Given the description of an element on the screen output the (x, y) to click on. 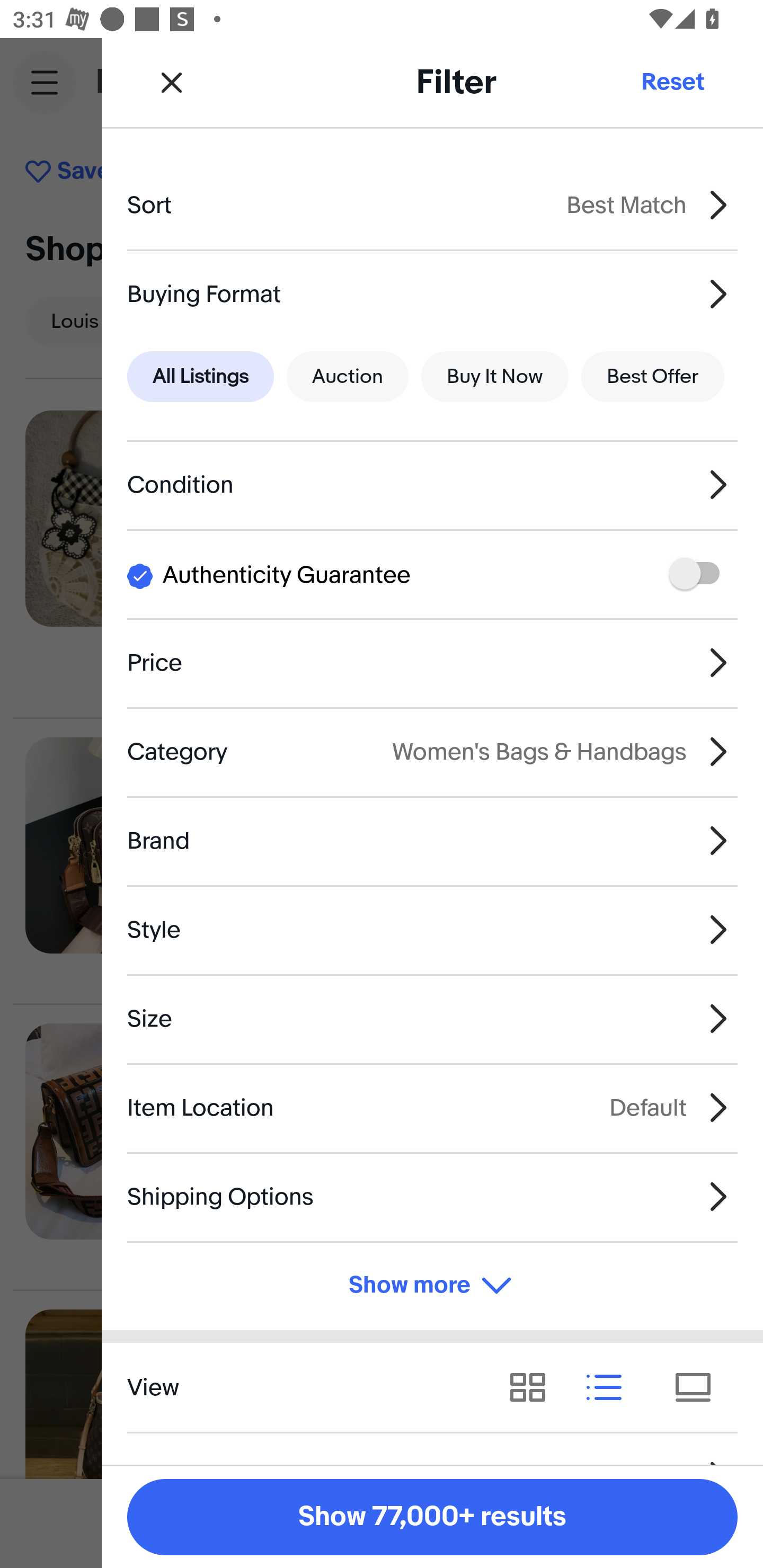
Close Filter (171, 81)
Reset (672, 81)
Buying Format (432, 293)
All Listings (200, 376)
Auction (347, 376)
Buy It Now (494, 376)
Best Offer (652, 376)
Condition (432, 484)
I  Authenticity Guarantee (432, 573)
Price (432, 662)
Category Women's Bags & Handbags (432, 751)
Brand (432, 840)
Style (432, 929)
Size (432, 1018)
Item Location Default (432, 1107)
Shipping Options (432, 1196)
Show more (432, 1285)
View results as grid (533, 1386)
View results as list (610, 1386)
View results as tiles (699, 1386)
Show 77,000+ results (432, 1516)
